Given the description of an element on the screen output the (x, y) to click on. 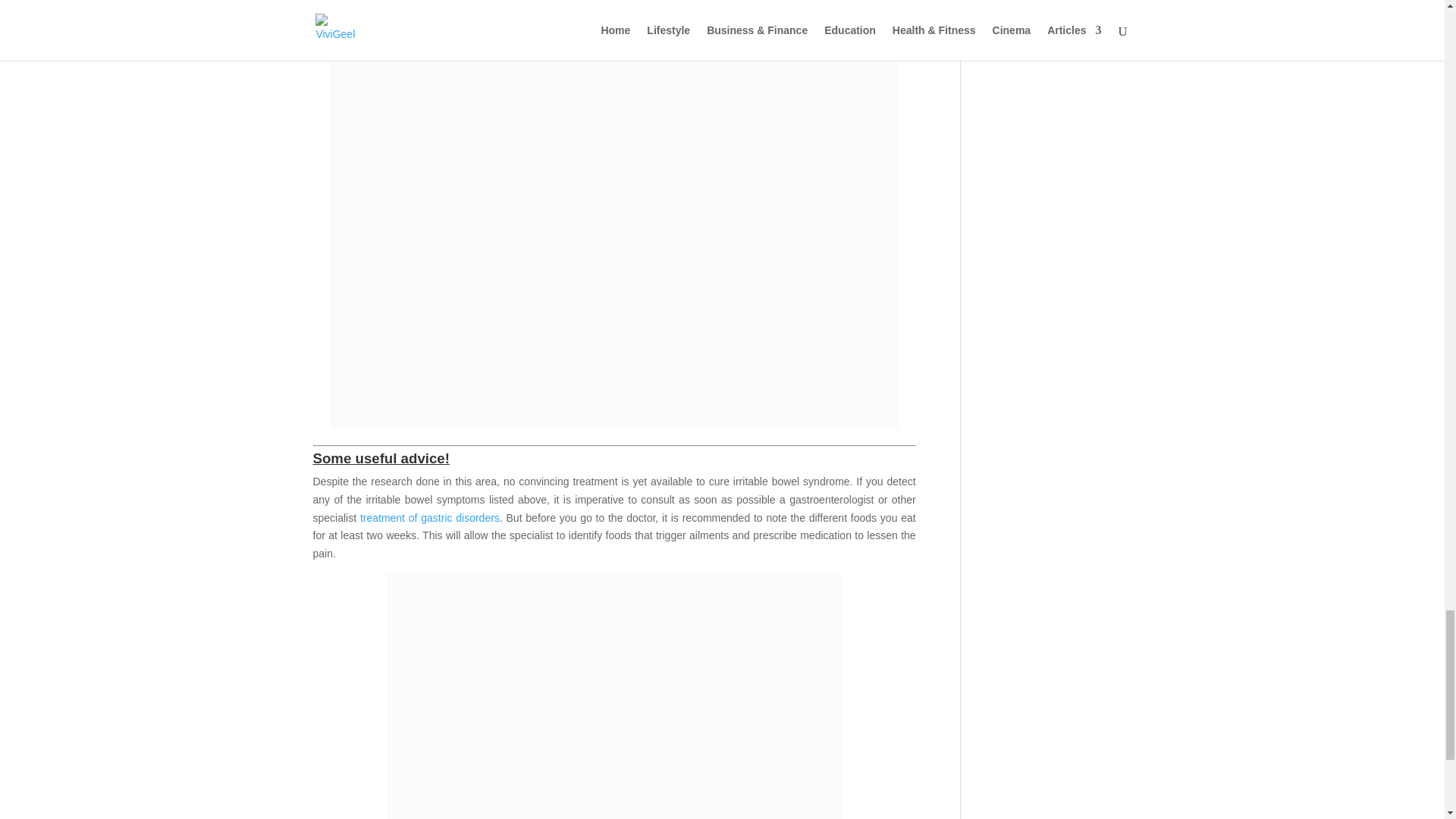
prevention or specific treatment (614, 9)
treatment of gastric disorders (429, 517)
